Given the description of an element on the screen output the (x, y) to click on. 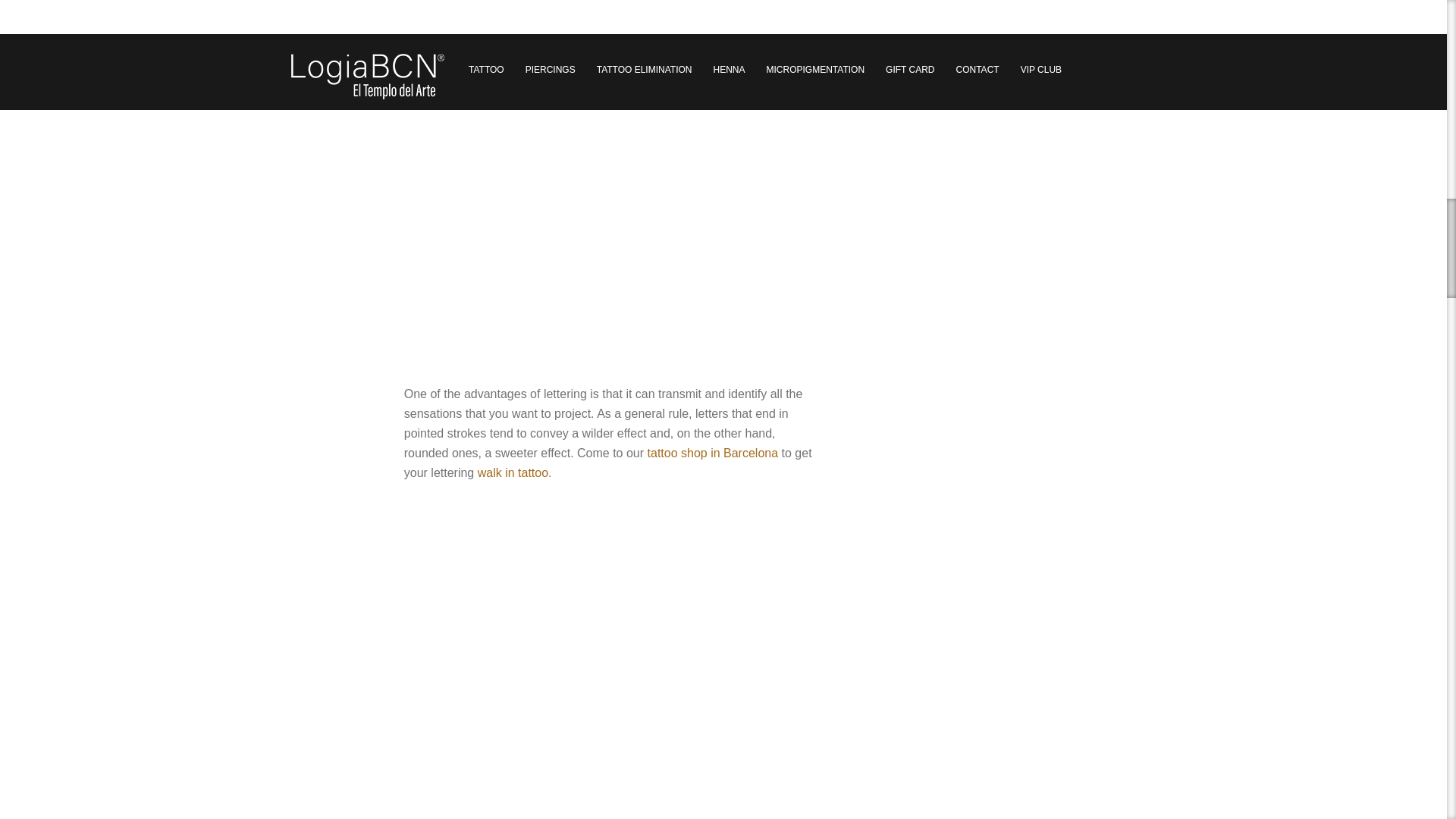
tatuaje lettering (612, 659)
